Given the description of an element on the screen output the (x, y) to click on. 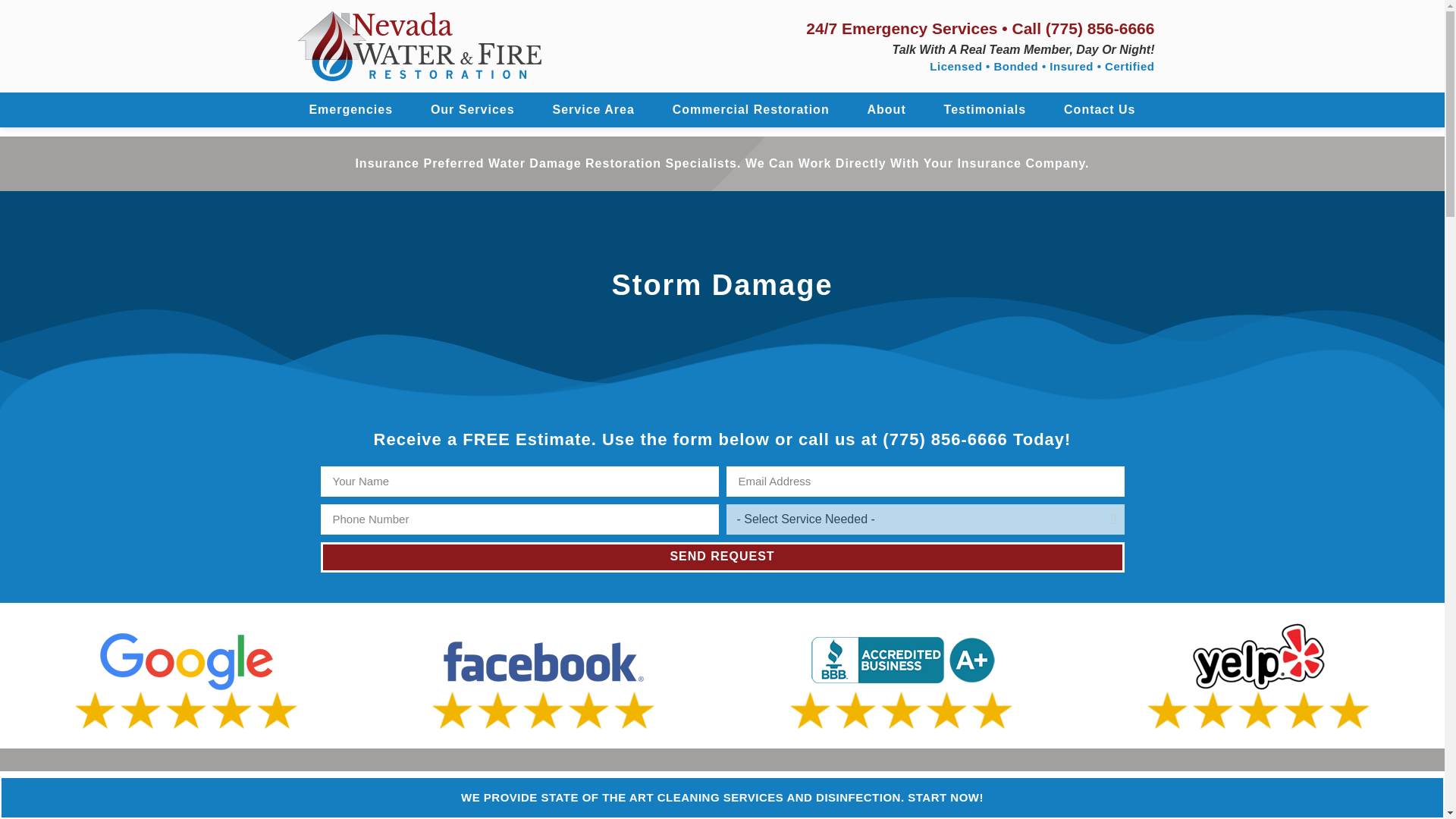
SEND REQUEST (722, 557)
Testimonials (984, 109)
Our Services (473, 109)
Service Area (593, 109)
Contact Us (1099, 109)
Commercial Restoration (750, 109)
Emergencies (349, 109)
About (886, 109)
